Given the description of an element on the screen output the (x, y) to click on. 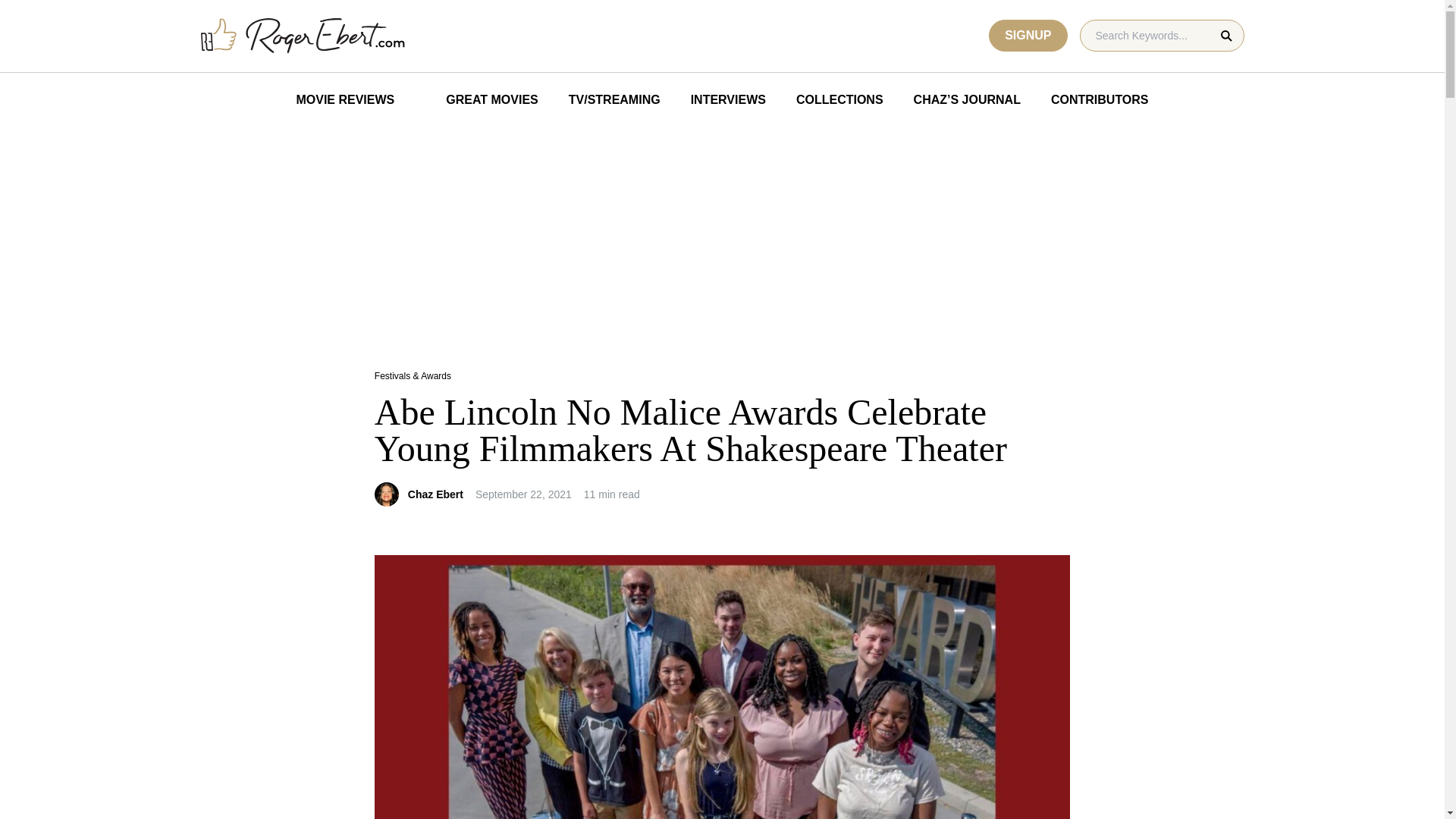
Chaz Ebert (435, 494)
GREAT MOVIES (481, 100)
INTERVIEWS (727, 100)
MOVIE REVIEWS (345, 100)
CONTRIBUTORS (1099, 100)
COLLECTIONS (839, 100)
SIGNUP (1027, 35)
